Given the description of an element on the screen output the (x, y) to click on. 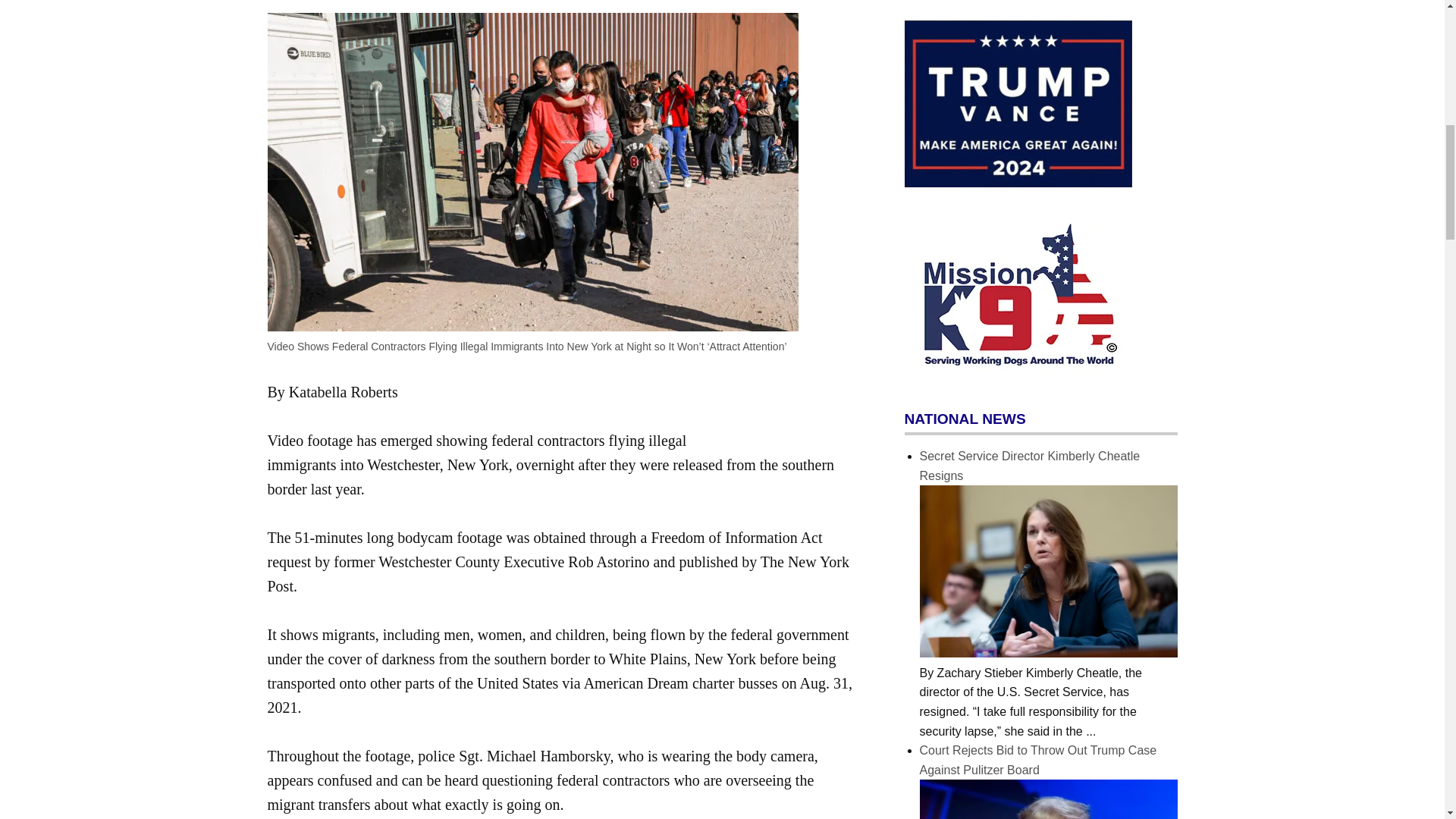
Secret Service Director Kimberly Cheatle Resigns (1047, 653)
